Given the description of an element on the screen output the (x, y) to click on. 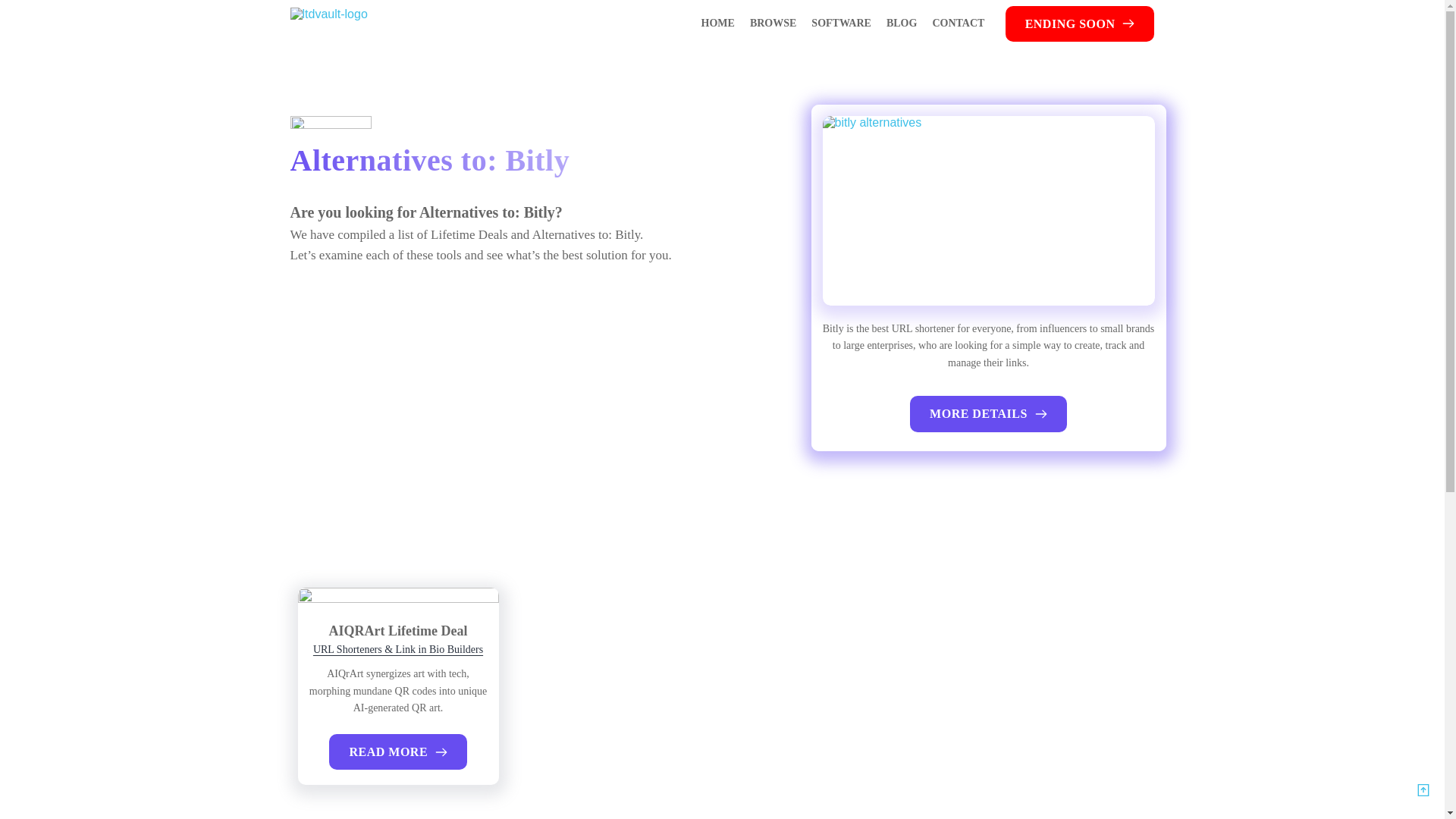
SOFTWARE (841, 23)
BROWSE (772, 23)
HOME (717, 23)
